Given the description of an element on the screen output the (x, y) to click on. 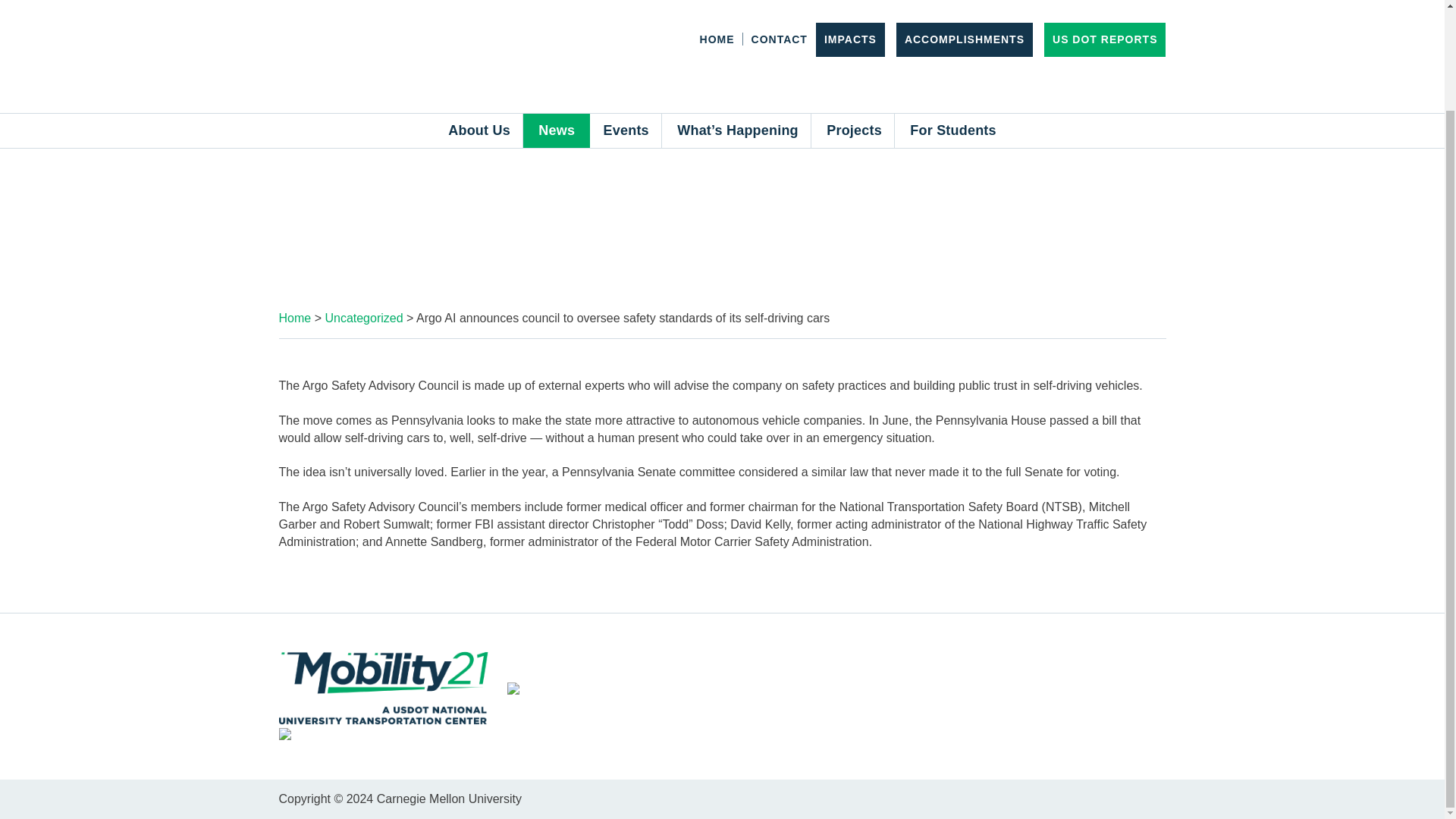
Go to M21. (295, 318)
About Us (478, 15)
Go to the Uncategorized category archives. (363, 318)
